Given the description of an element on the screen output the (x, y) to click on. 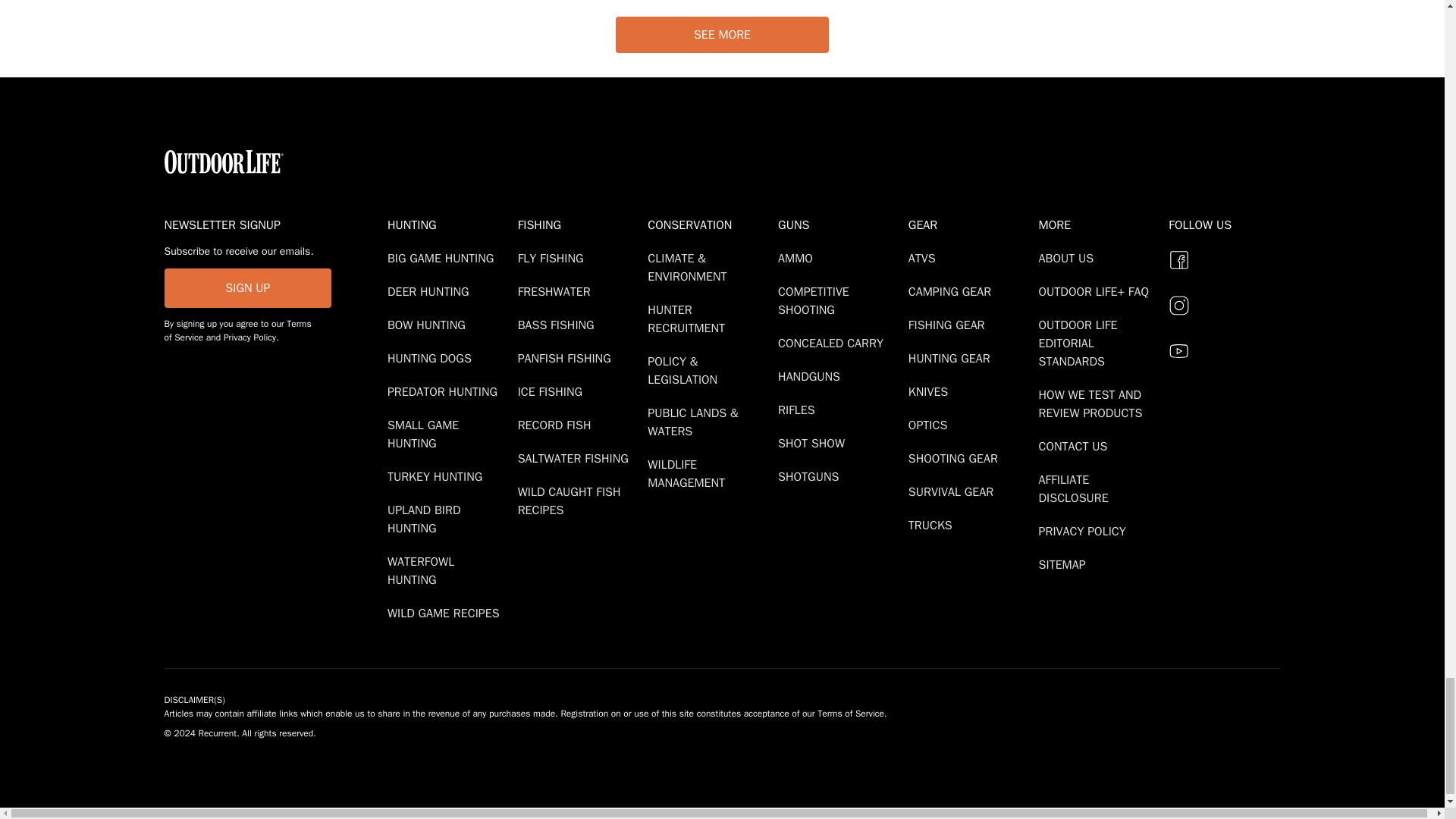
Fishing (580, 225)
Hunting (449, 225)
Fly Fishing (553, 258)
Conservation (709, 225)
Deer Hunting (431, 291)
Big Game Hunting (443, 258)
